Given the description of an element on the screen output the (x, y) to click on. 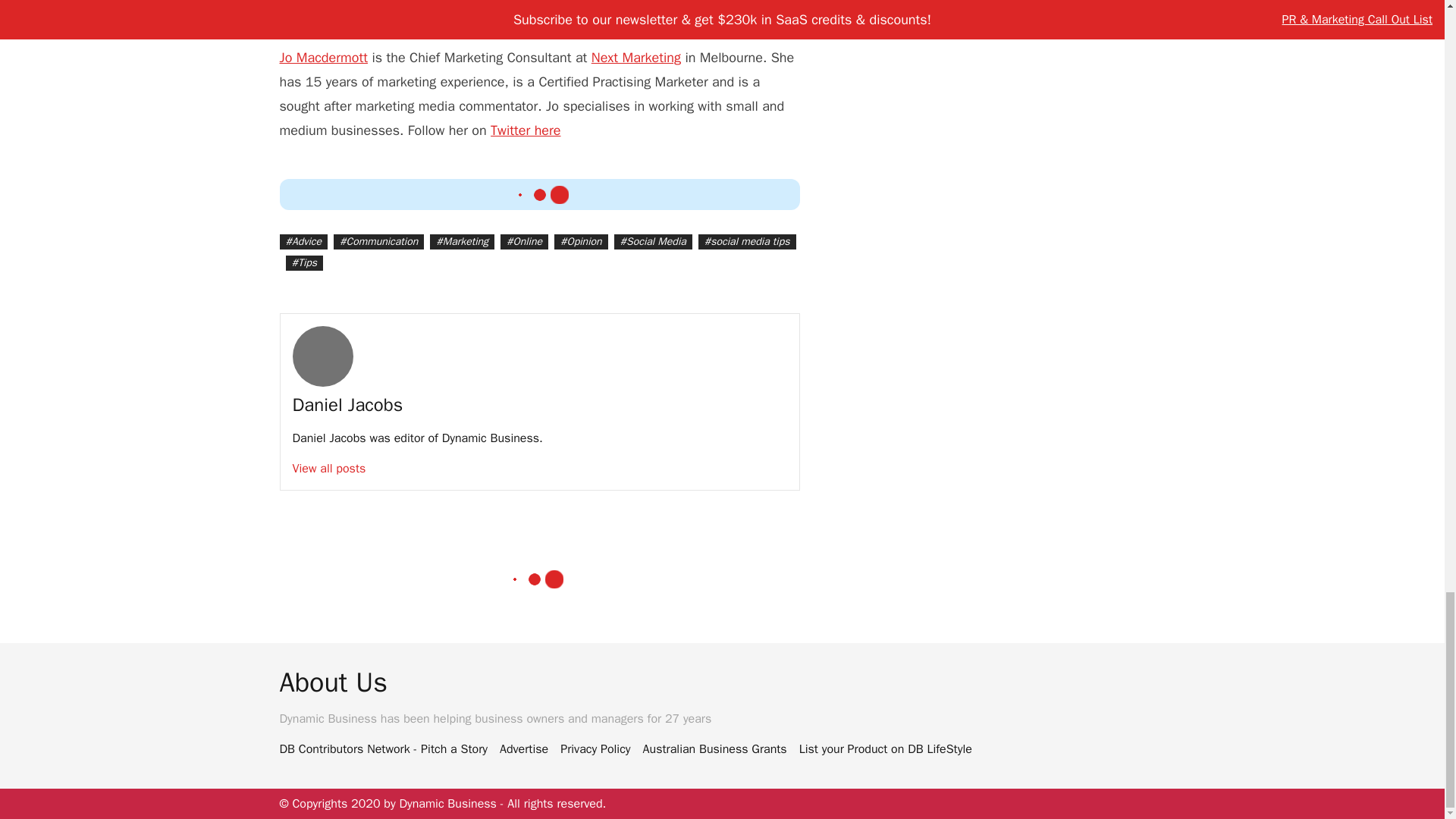
Jo Macdermott (322, 57)
Twitter here (525, 130)
Next Marketing (636, 57)
